Given the description of an element on the screen output the (x, y) to click on. 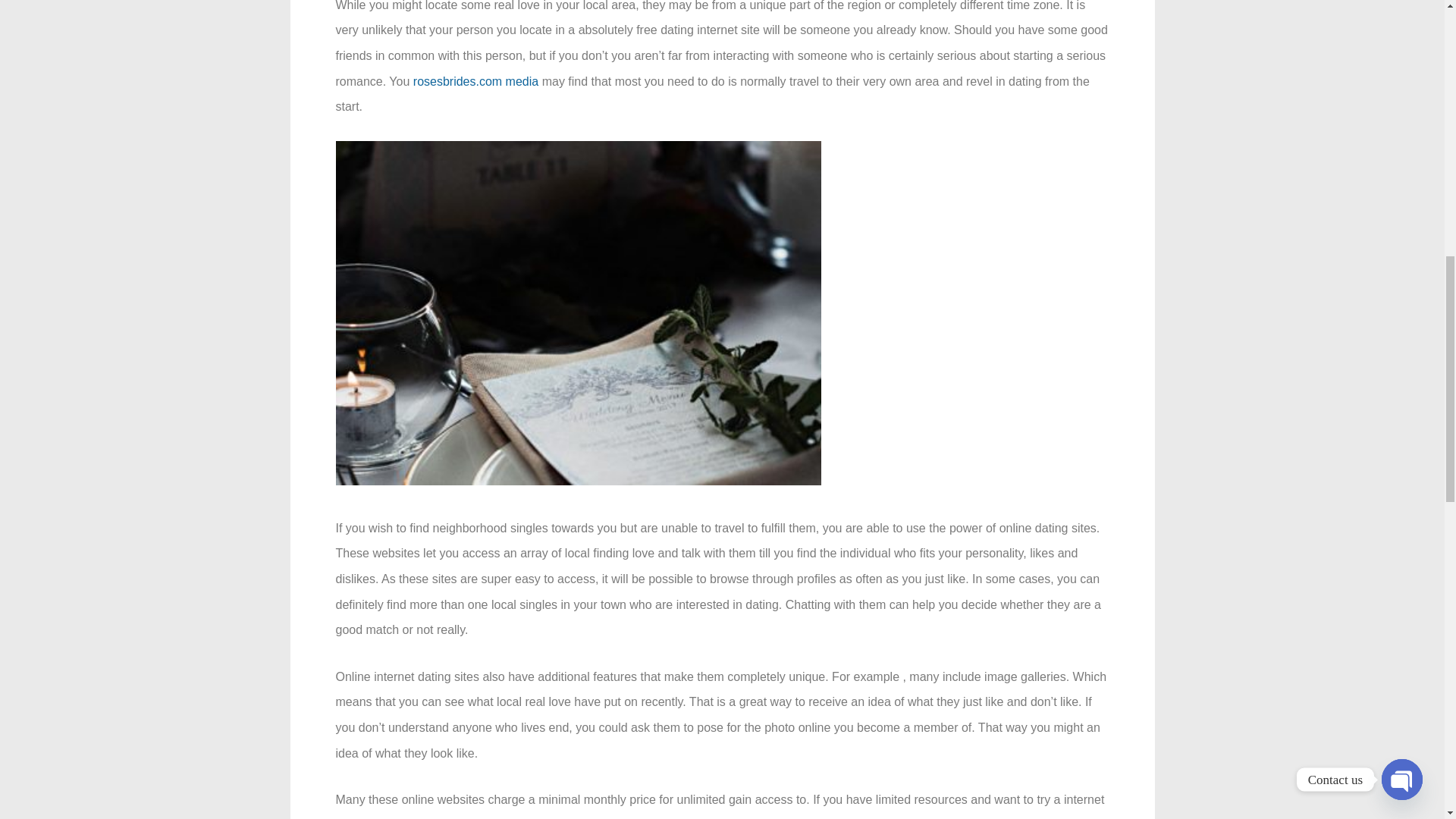
rosesbrides.com media (475, 81)
